Given the description of an element on the screen output the (x, y) to click on. 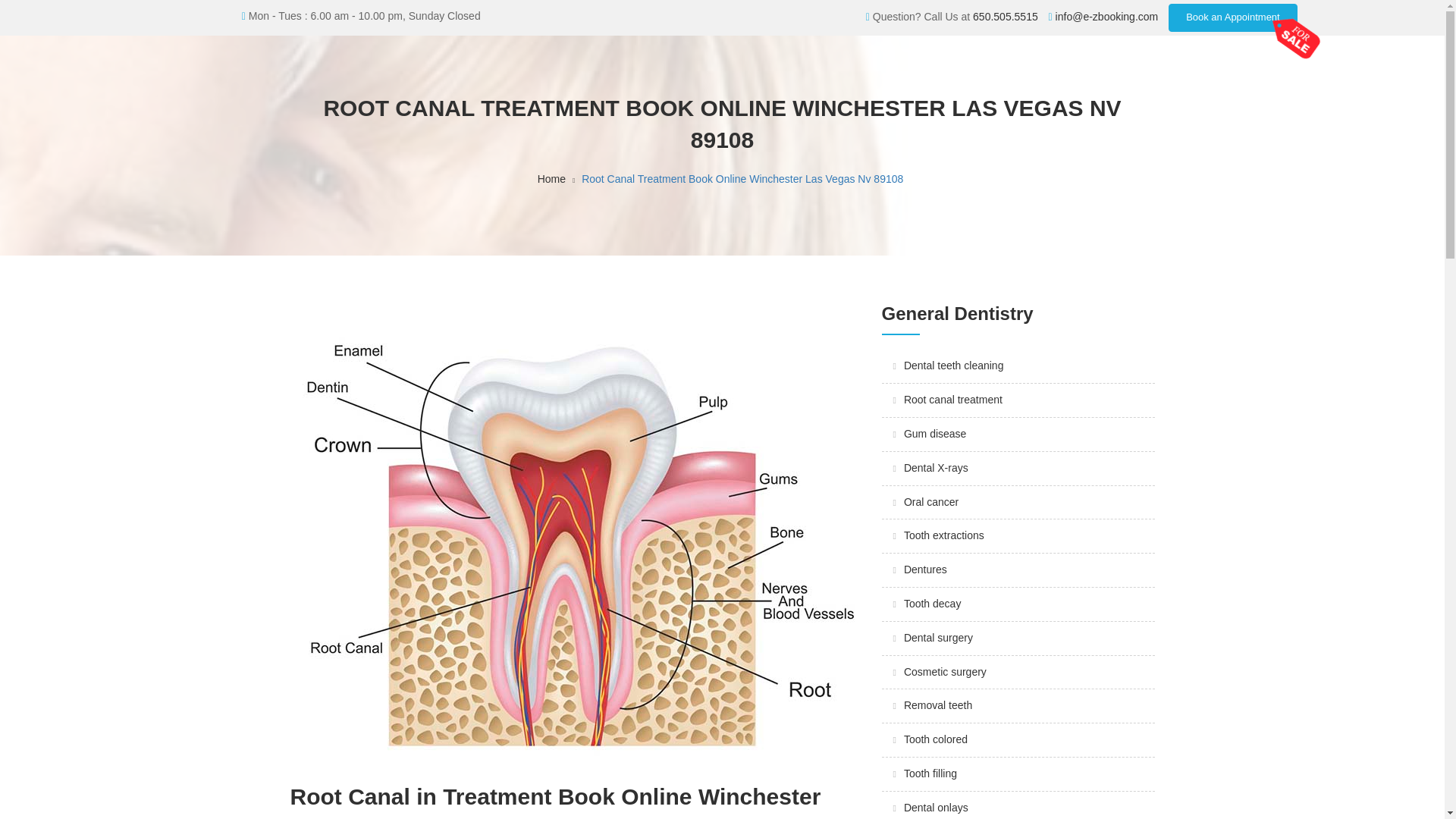
Dentures (925, 569)
650.505.5515 (1005, 16)
Cosmetic surgery (945, 671)
Tooth colored (936, 739)
Removal teeth (938, 705)
Book an Appointment (1233, 17)
Dental onlays (936, 807)
Dental surgery (938, 637)
Root canal treatment (953, 399)
Home (551, 178)
Tooth extractions (944, 535)
Dental teeth cleaning (954, 365)
Tooth decay (932, 603)
